Given the description of an element on the screen output the (x, y) to click on. 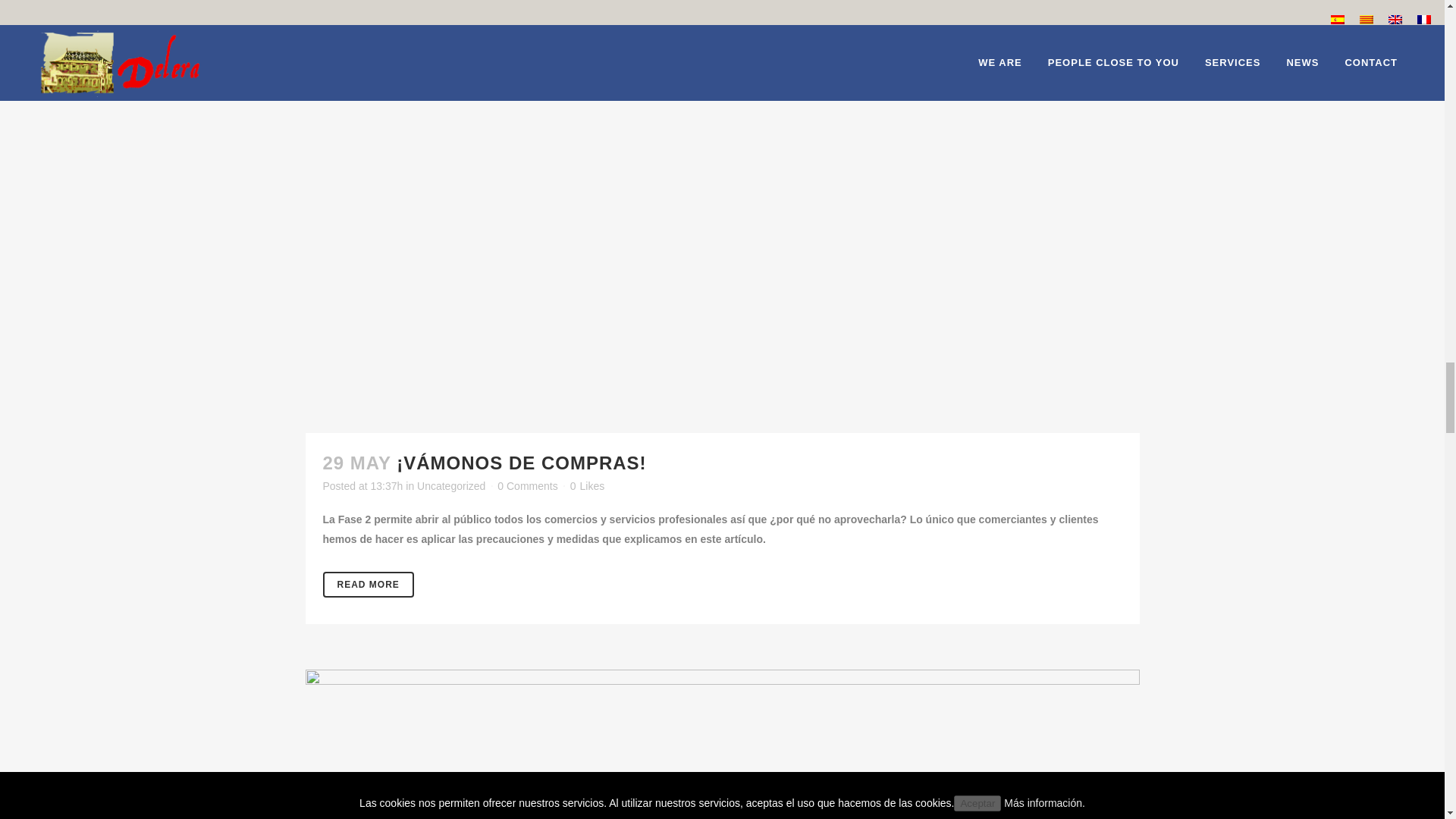
Like this (587, 485)
